Given the description of an element on the screen output the (x, y) to click on. 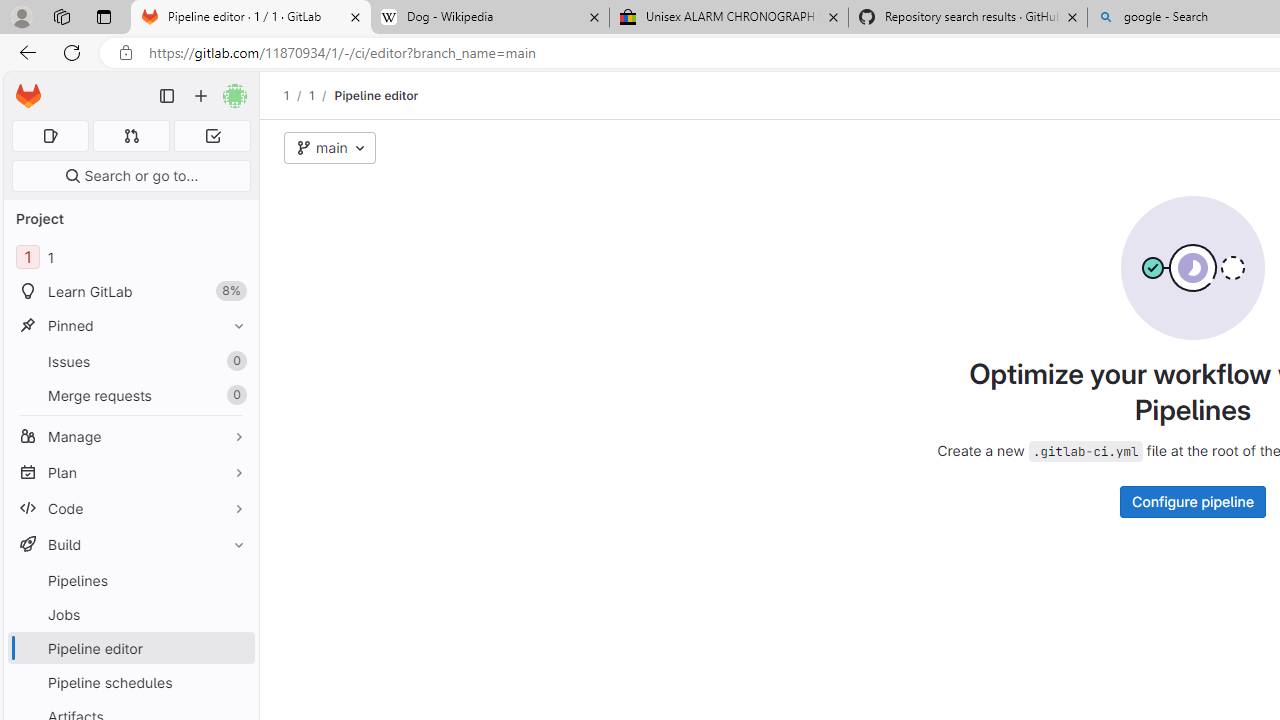
Code (130, 507)
Code (130, 507)
Dog - Wikipedia (490, 17)
Plan (130, 471)
